Given the description of an element on the screen output the (x, y) to click on. 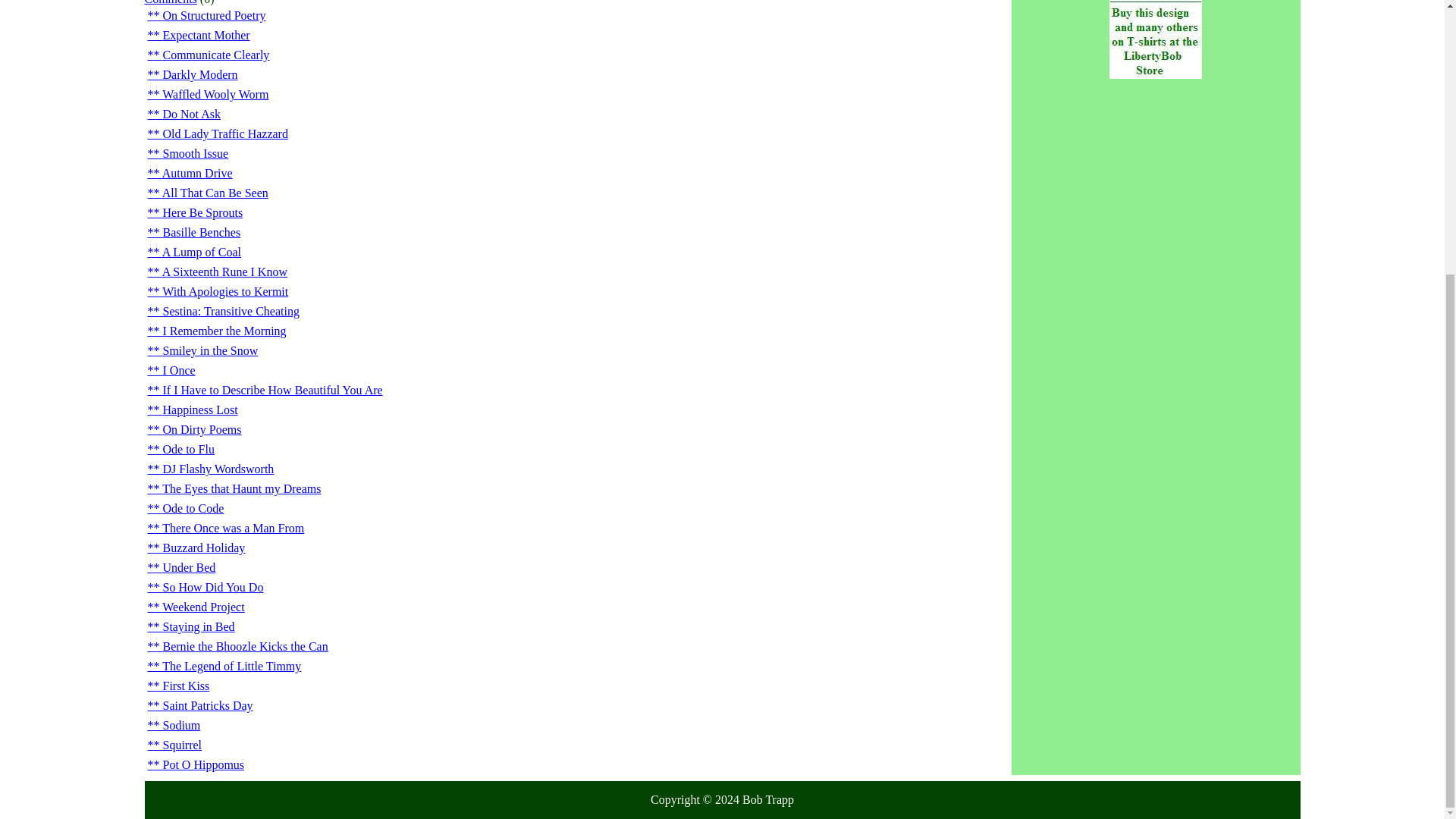
On Dirty Poems (194, 429)
I Once (171, 369)
Autumn Drive (189, 173)
Smiley in the Snow (202, 350)
If I Have to Describe How Beautiful You Are (264, 390)
Do Not Ask (183, 113)
With Apologies to Kermit (217, 291)
A Lump of Coal (194, 251)
Happiness Lost (192, 409)
Smooth Issue (187, 153)
